Given the description of an element on the screen output the (x, y) to click on. 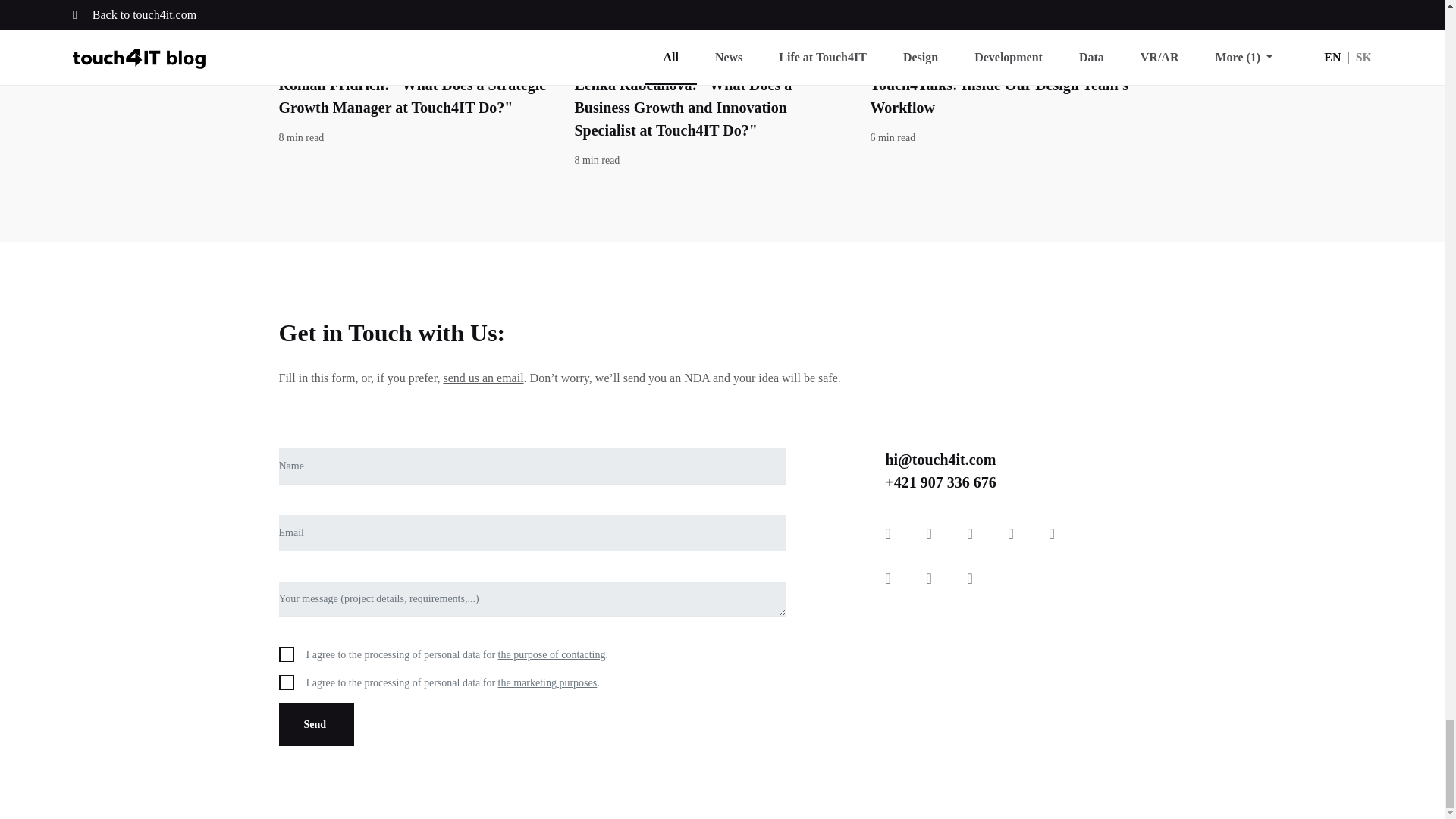
LIFE AT TOUCH4IT (415, 59)
Touch4Talks - Milan - Lead Designer - Touch4IT (1005, 18)
Meet our team Lenka (710, 18)
the marketing purposes (546, 682)
the purpose of contacting (551, 654)
send us an email (482, 377)
LIFE AT TOUCH4IT (710, 59)
Interview - Roman - Touch4IT (415, 18)
NEWS (1005, 59)
